Given the description of an element on the screen output the (x, y) to click on. 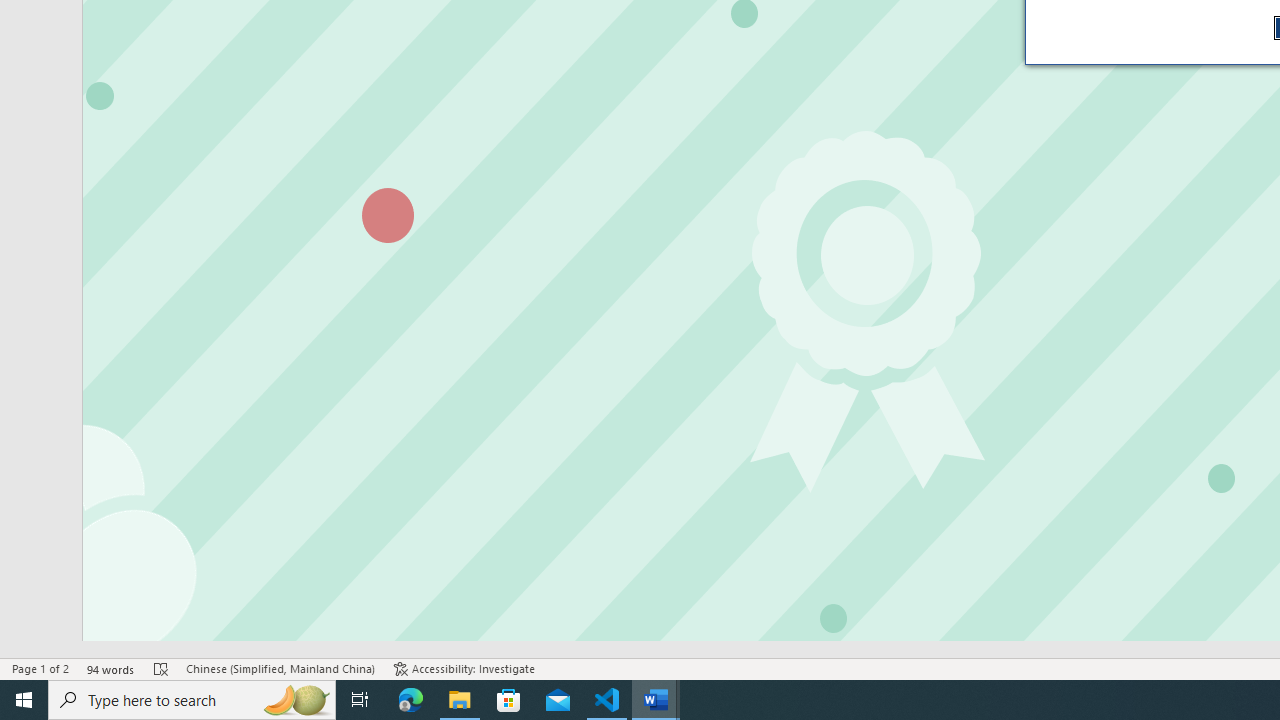
Type here to search (191, 699)
Page Number Page 1 of 2 (39, 668)
Word - 2 running windows (656, 699)
Microsoft Store (509, 699)
Spelling and Grammar Check Errors (161, 668)
Language Chinese (Simplified, Mainland China) (279, 668)
Visual Studio Code - 1 running window (607, 699)
Word Count 94 words (111, 668)
Search highlights icon opens search home window (295, 699)
File Explorer - 1 running window (460, 699)
Start (24, 699)
Task View (359, 699)
Microsoft Edge (411, 699)
